Given the description of an element on the screen output the (x, y) to click on. 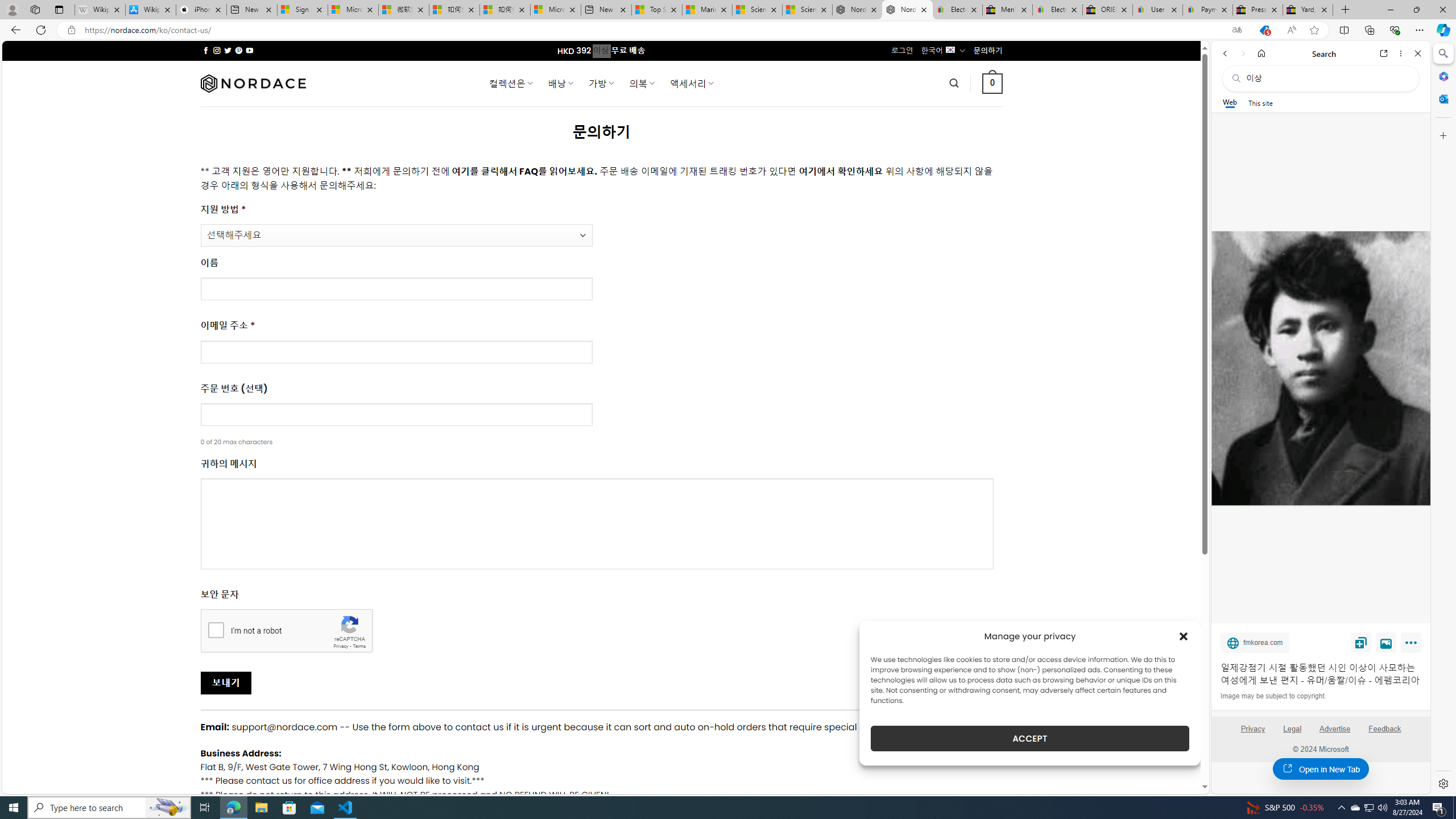
ACCEPT (1029, 738)
I'm not a robot (216, 629)
This site scope (1259, 102)
iPhone - Apple (201, 9)
